Given the description of an element on the screen output the (x, y) to click on. 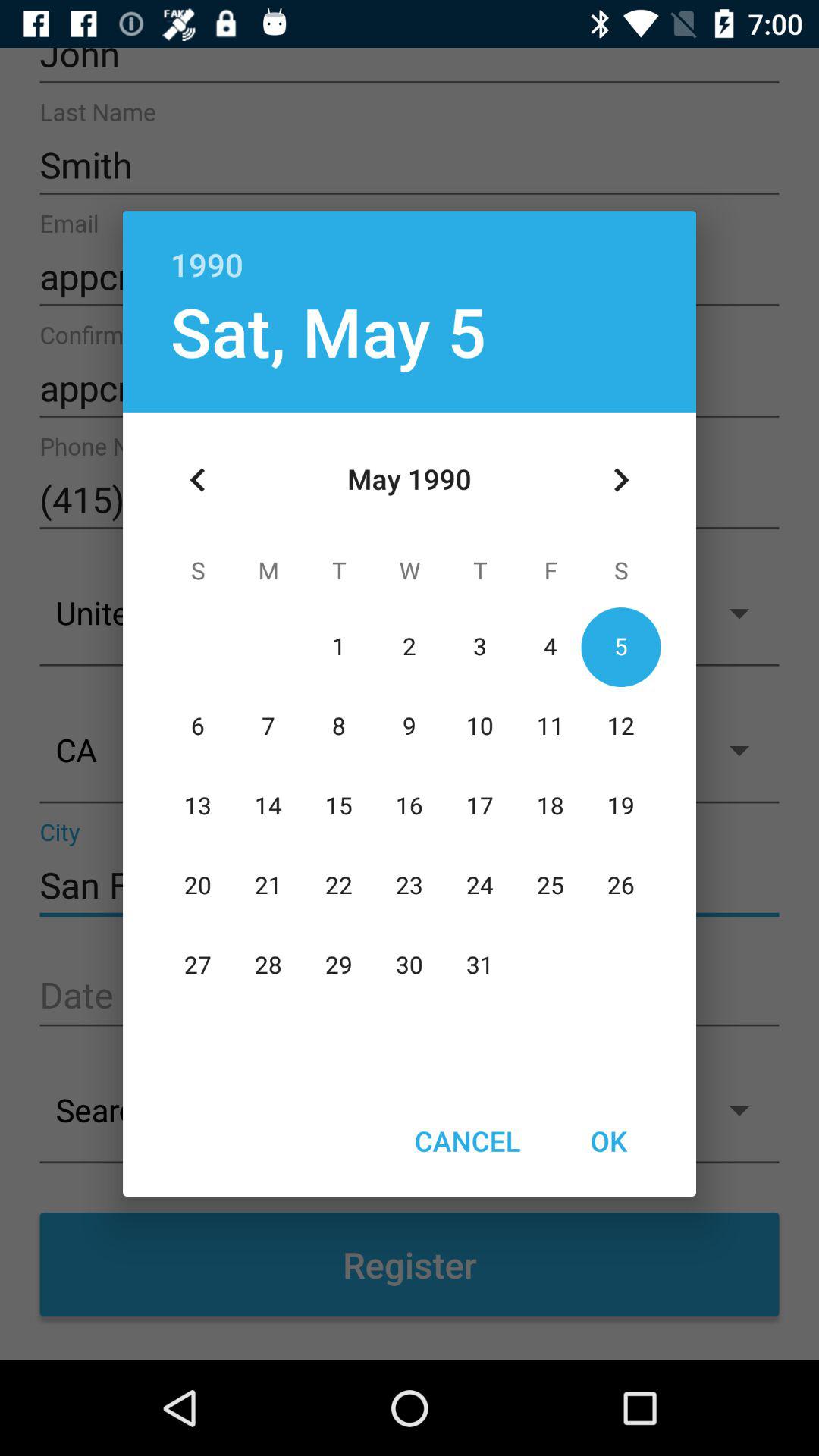
select icon at the top left corner (197, 479)
